Given the description of an element on the screen output the (x, y) to click on. 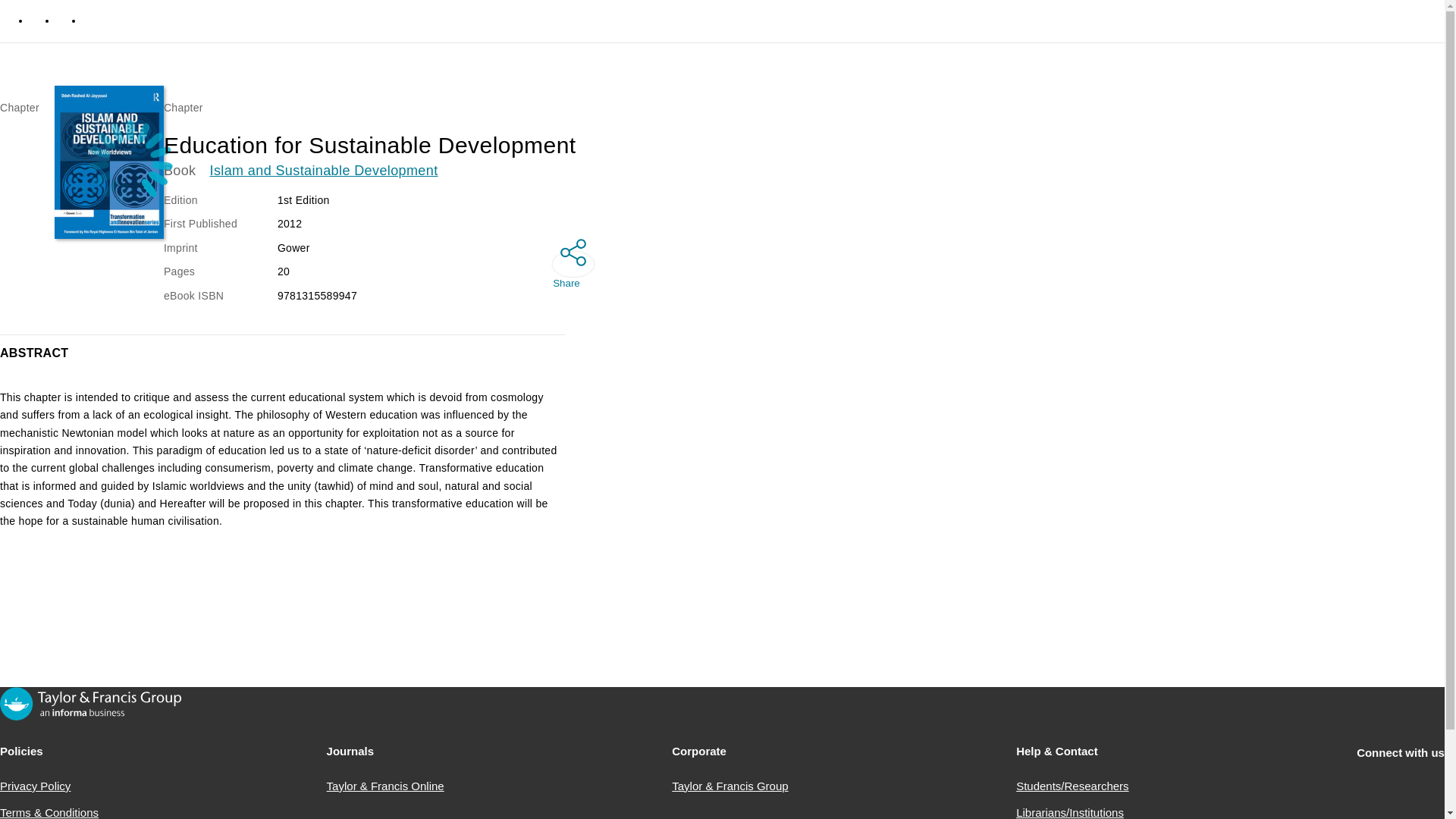
Privacy Policy (34, 785)
Islam and Sustainable Development (323, 170)
